Given the description of an element on the screen output the (x, y) to click on. 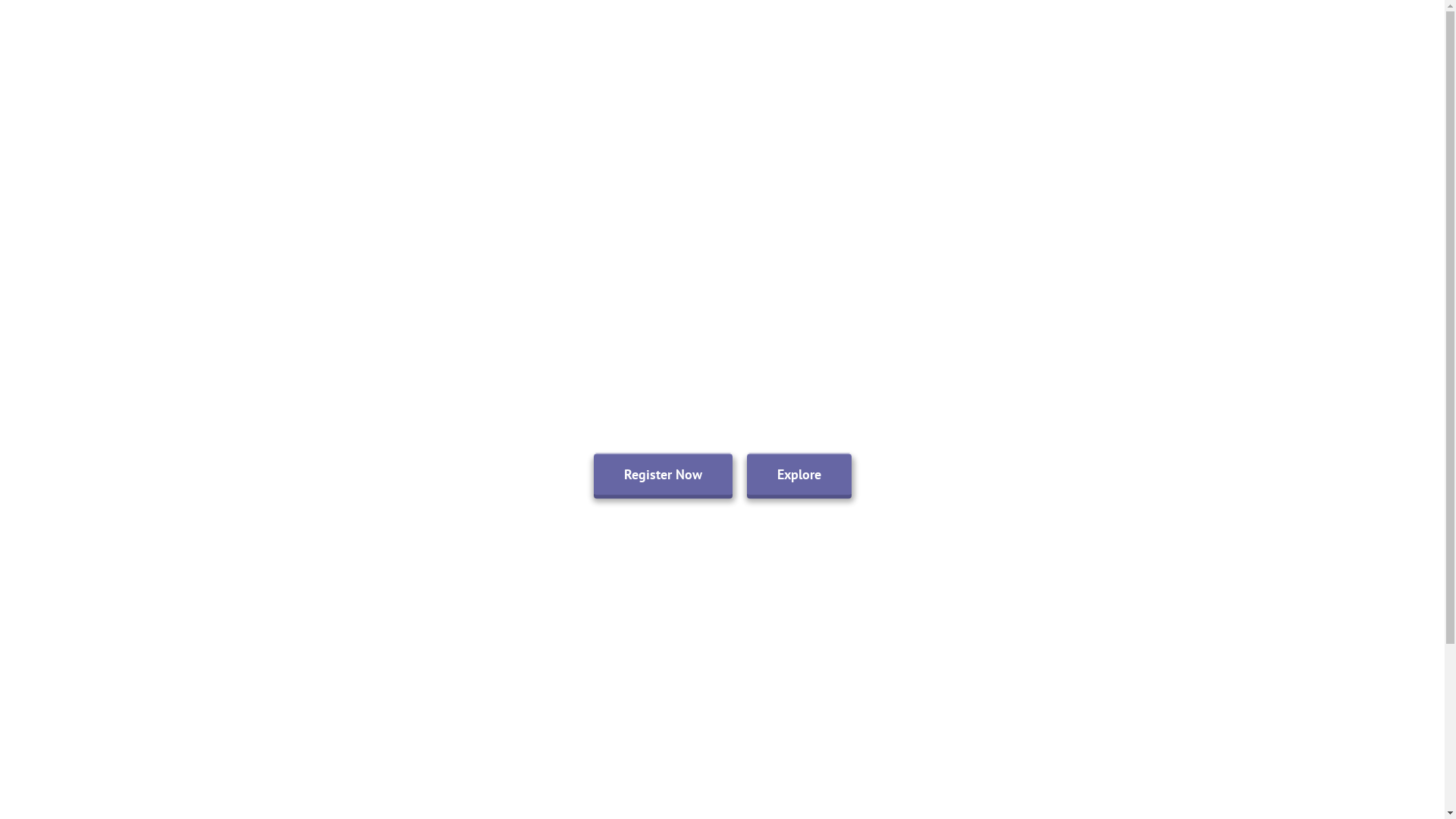
Location Element type: text (975, 39)
Home Element type: text (903, 39)
Register Element type: text (1341, 39)
Explore Element type: text (798, 473)
Community Element type: text (1250, 39)
Register Now Element type: text (662, 473)
Real Estate Element type: text (1148, 39)
Lifestyle Element type: text (1056, 39)
